Given the description of an element on the screen output the (x, y) to click on. 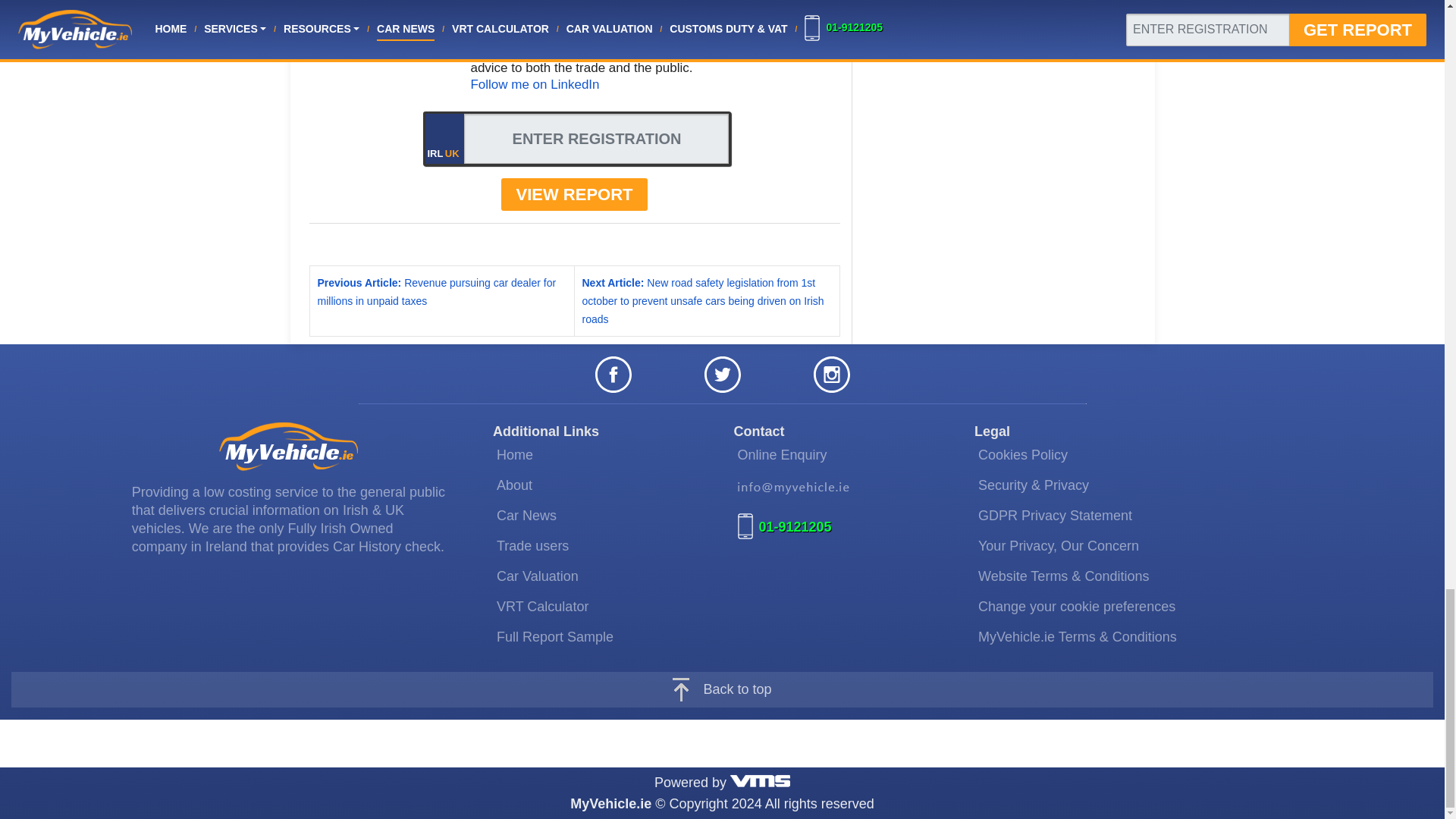
Irish Current Automotive Price Guide (537, 575)
VIEW REPORT (573, 194)
Follow me on LinkedIn (534, 83)
MyVehicle on Facebook (611, 373)
MyVehicle on Twitter (721, 373)
MyVehicle on Instagram (830, 373)
Trade (532, 545)
